Given the description of an element on the screen output the (x, y) to click on. 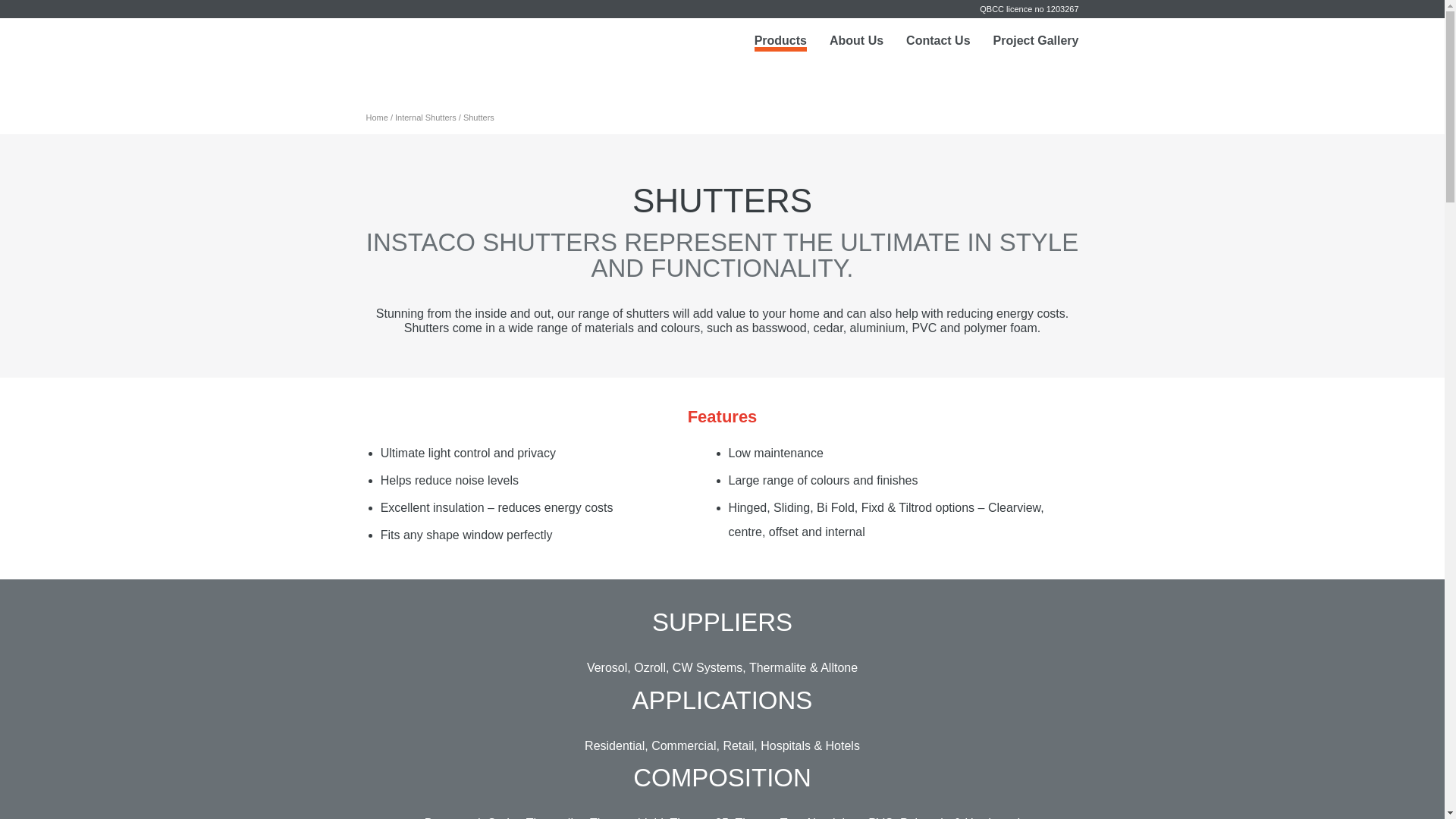
Contact Us Element type: text (937, 40)
About Us Element type: text (856, 40)
Internal Shutters Element type: text (425, 117)
Project Gallery Element type: text (1036, 40)
Home Element type: text (376, 117)
Products Element type: text (780, 42)
